Given the description of an element on the screen output the (x, y) to click on. 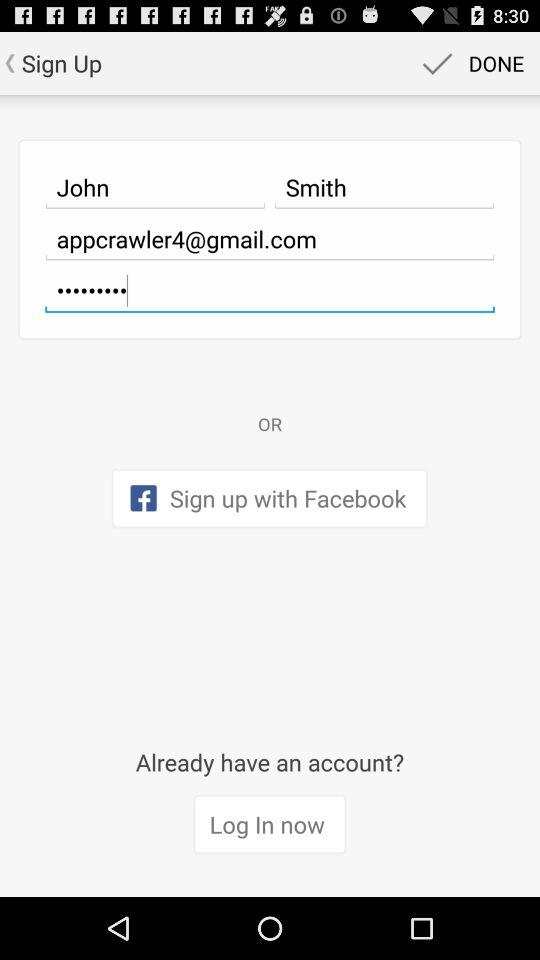
choose the item above the appcrawler4@gmail.com (384, 187)
